Given the description of an element on the screen output the (x, y) to click on. 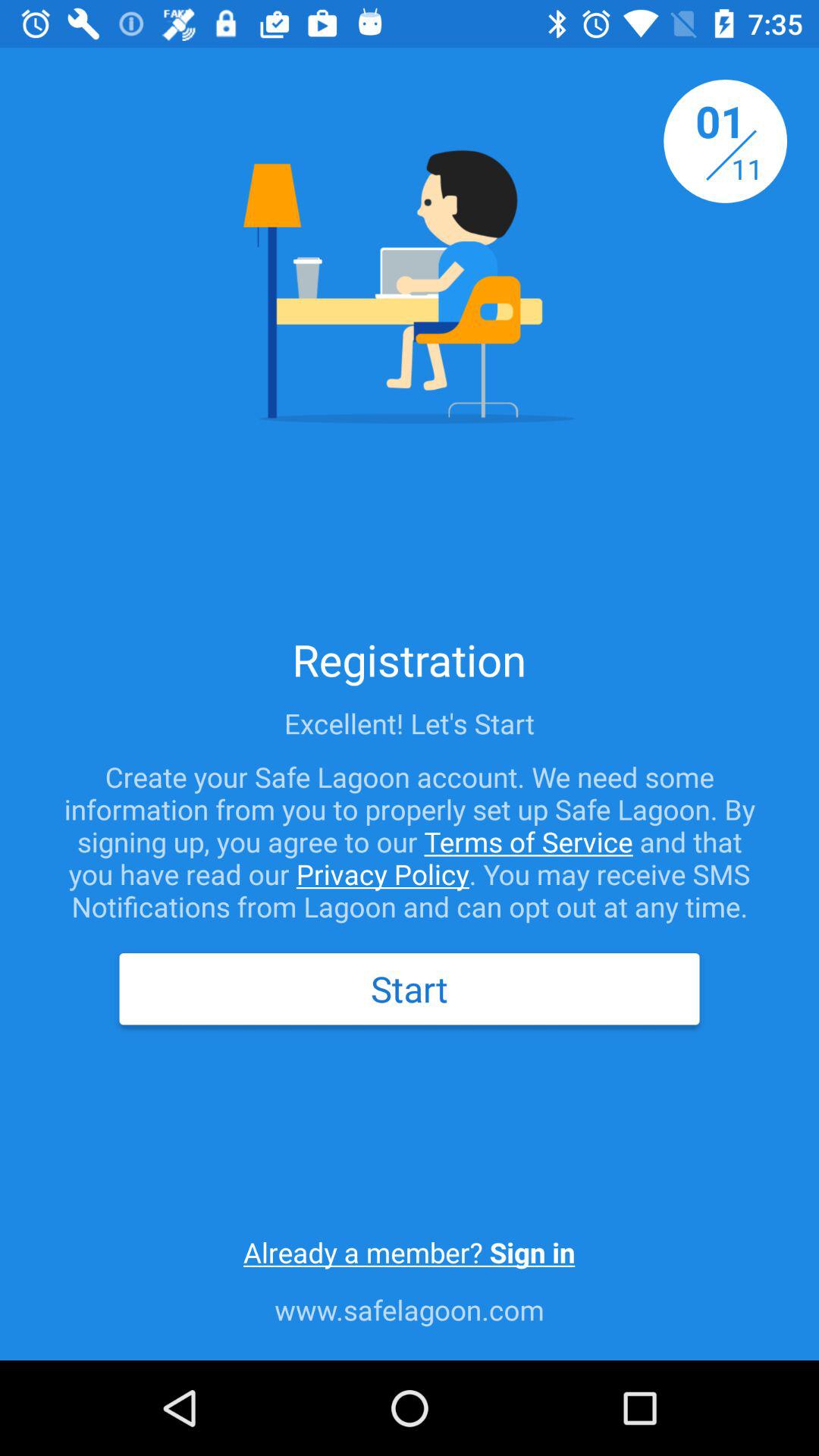
press the icon above www.safelagoon.com item (408, 1252)
